Given the description of an element on the screen output the (x, y) to click on. 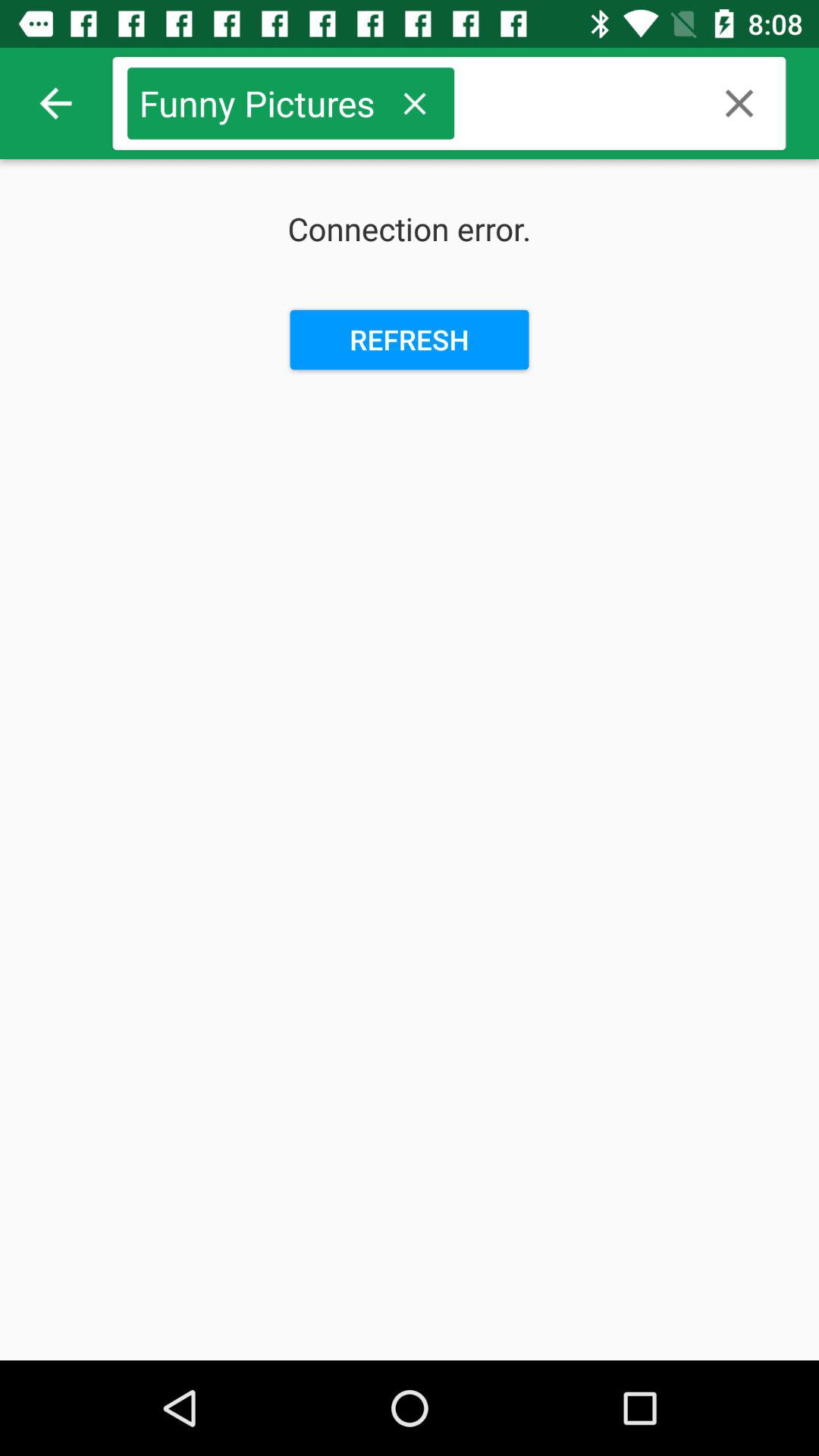
clear search area (739, 103)
